Given the description of an element on the screen output the (x, y) to click on. 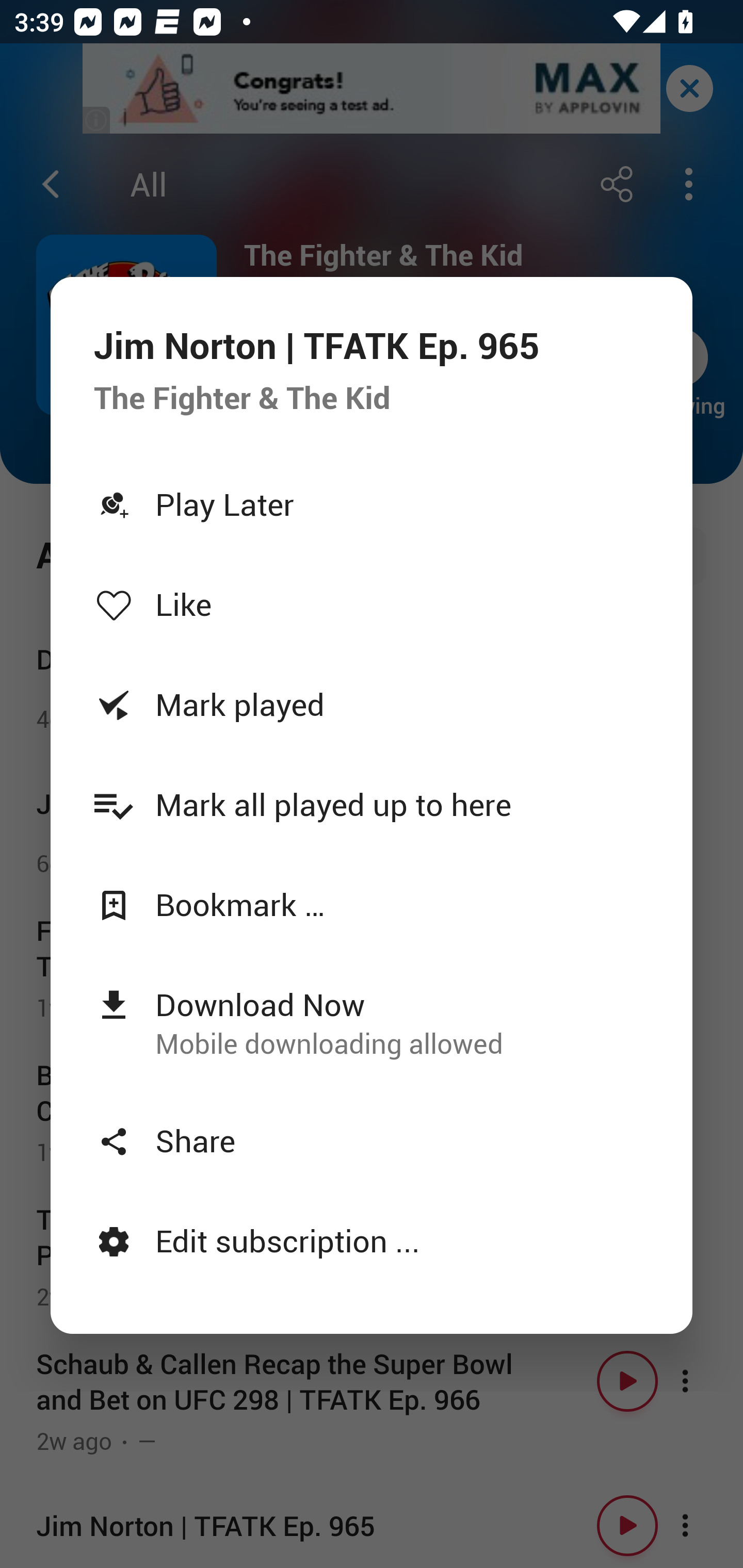
Play Later (371, 503)
Like (371, 603)
Mark played (371, 703)
Mark all played up to here (371, 804)
Bookmark … (371, 904)
Download Now Mobile downloading allowed (371, 1021)
Share (371, 1139)
Edit subscription ... (371, 1240)
